Given the description of an element on the screen output the (x, y) to click on. 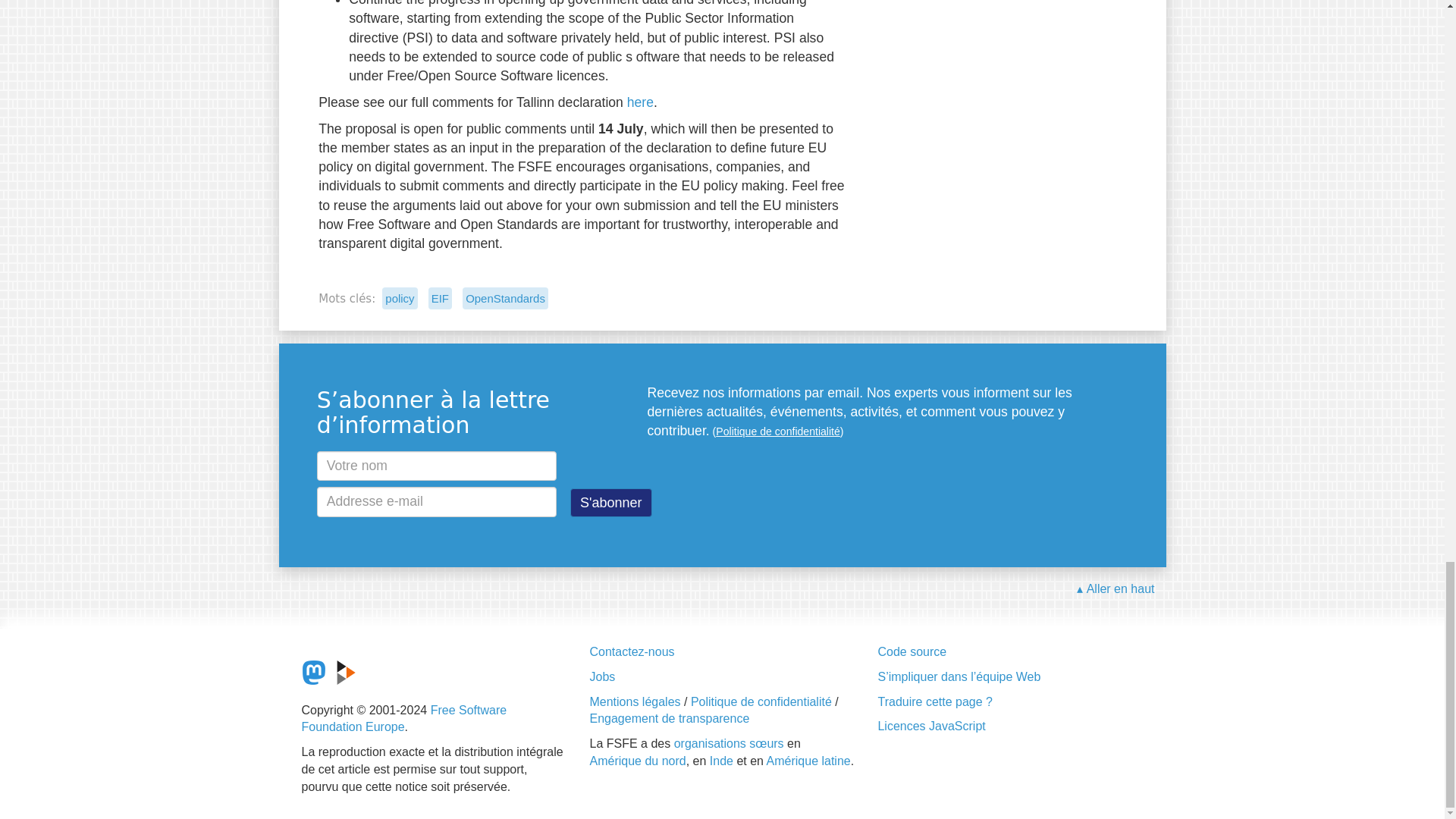
EIF (439, 298)
Peertube (345, 672)
Aller en haut (1115, 589)
Mastodon (313, 672)
OpenStandards (505, 298)
S'abonner (611, 502)
policy (398, 298)
S'abonner (611, 502)
here (640, 102)
